Given the description of an element on the screen output the (x, y) to click on. 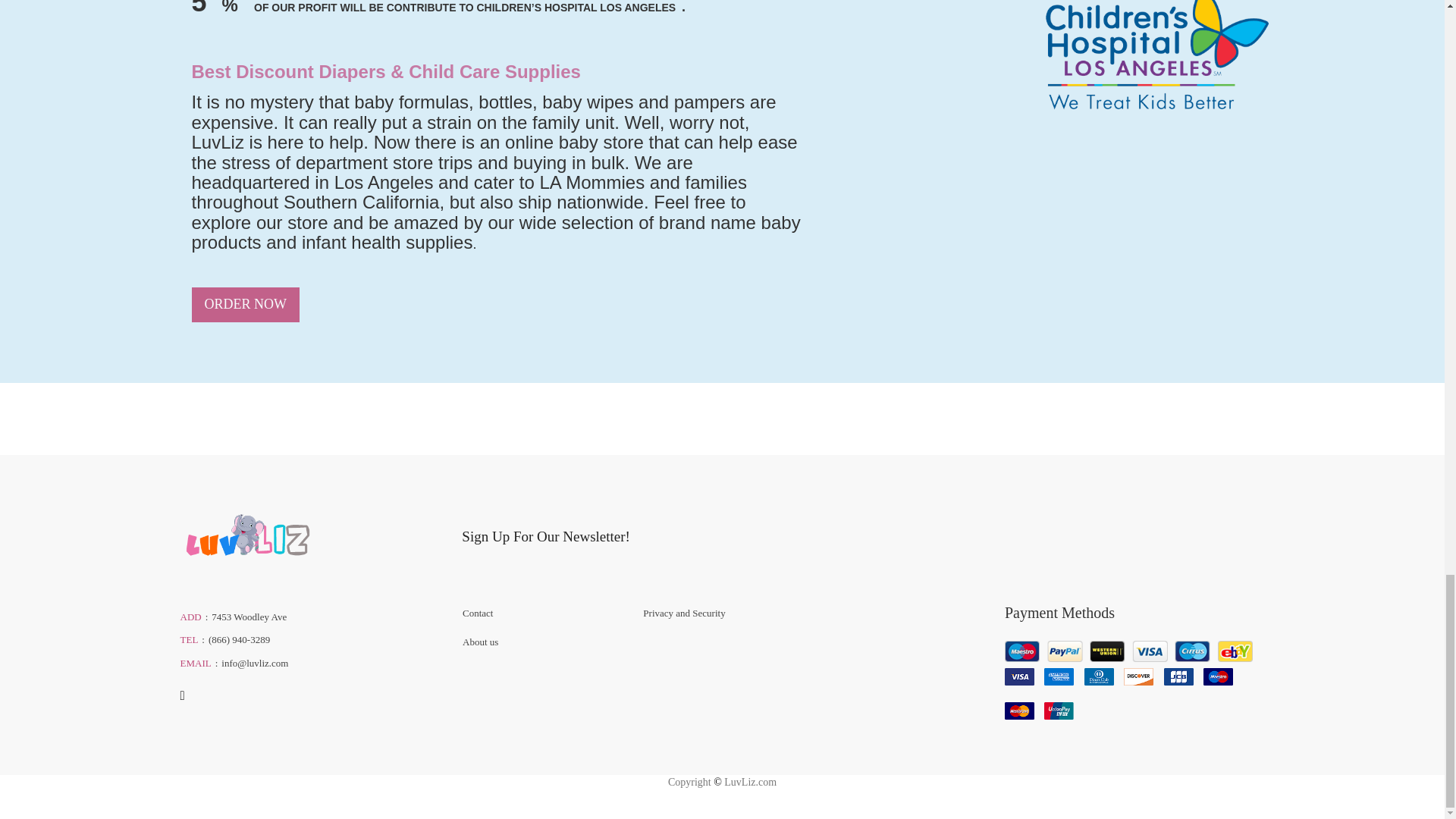
ORDER NOW (244, 304)
Privacy and Security (721, 613)
Contact (541, 613)
About us (541, 641)
